Given the description of an element on the screen output the (x, y) to click on. 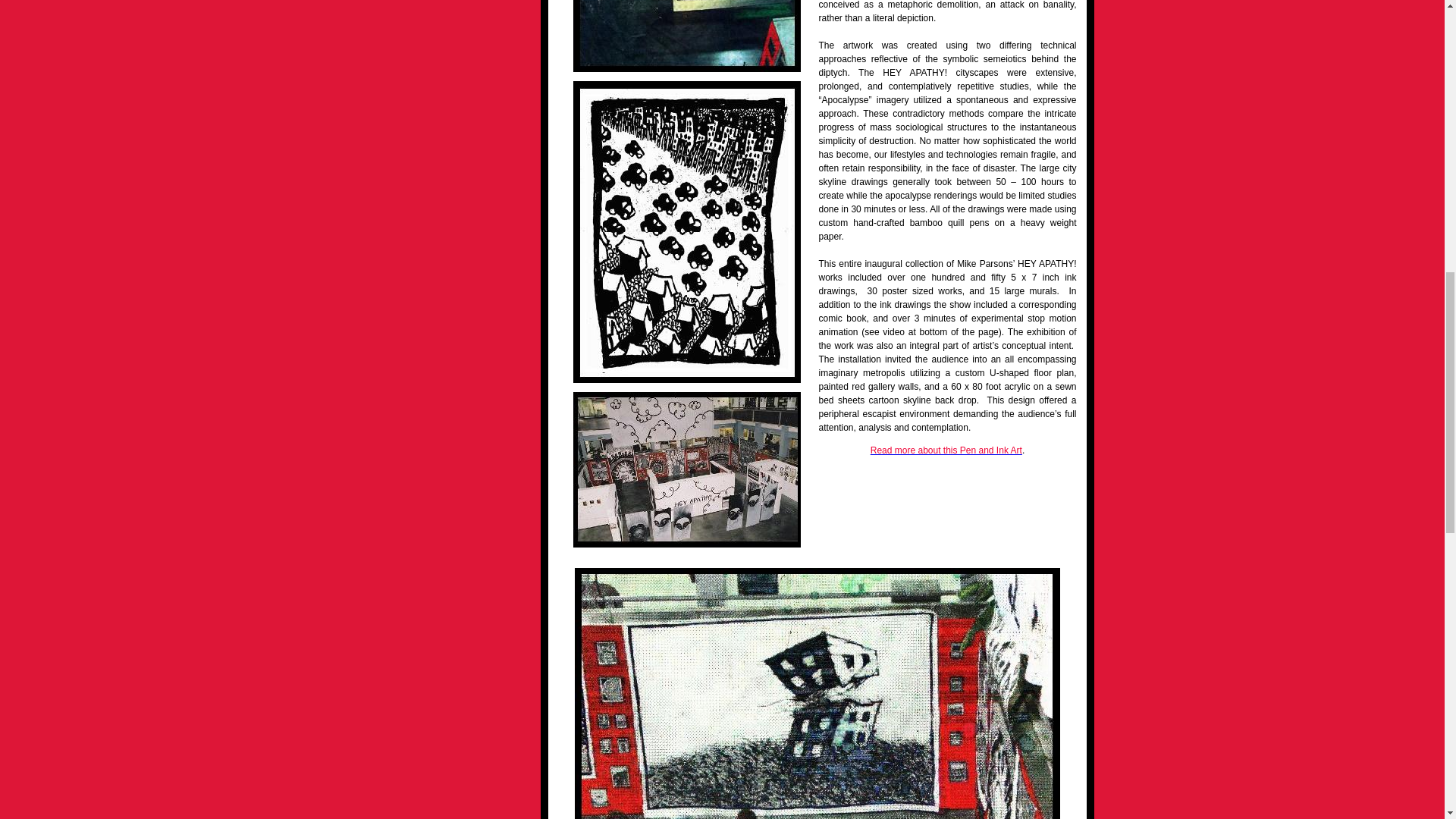
pen and ink art, apocalypse, surrealism (817, 693)
pen and ink art, apocalypse, surrealism (686, 36)
pen ink art, surreal drawings (686, 469)
Read more about this Pen and Ink Art (946, 450)
